Given the description of an element on the screen output the (x, y) to click on. 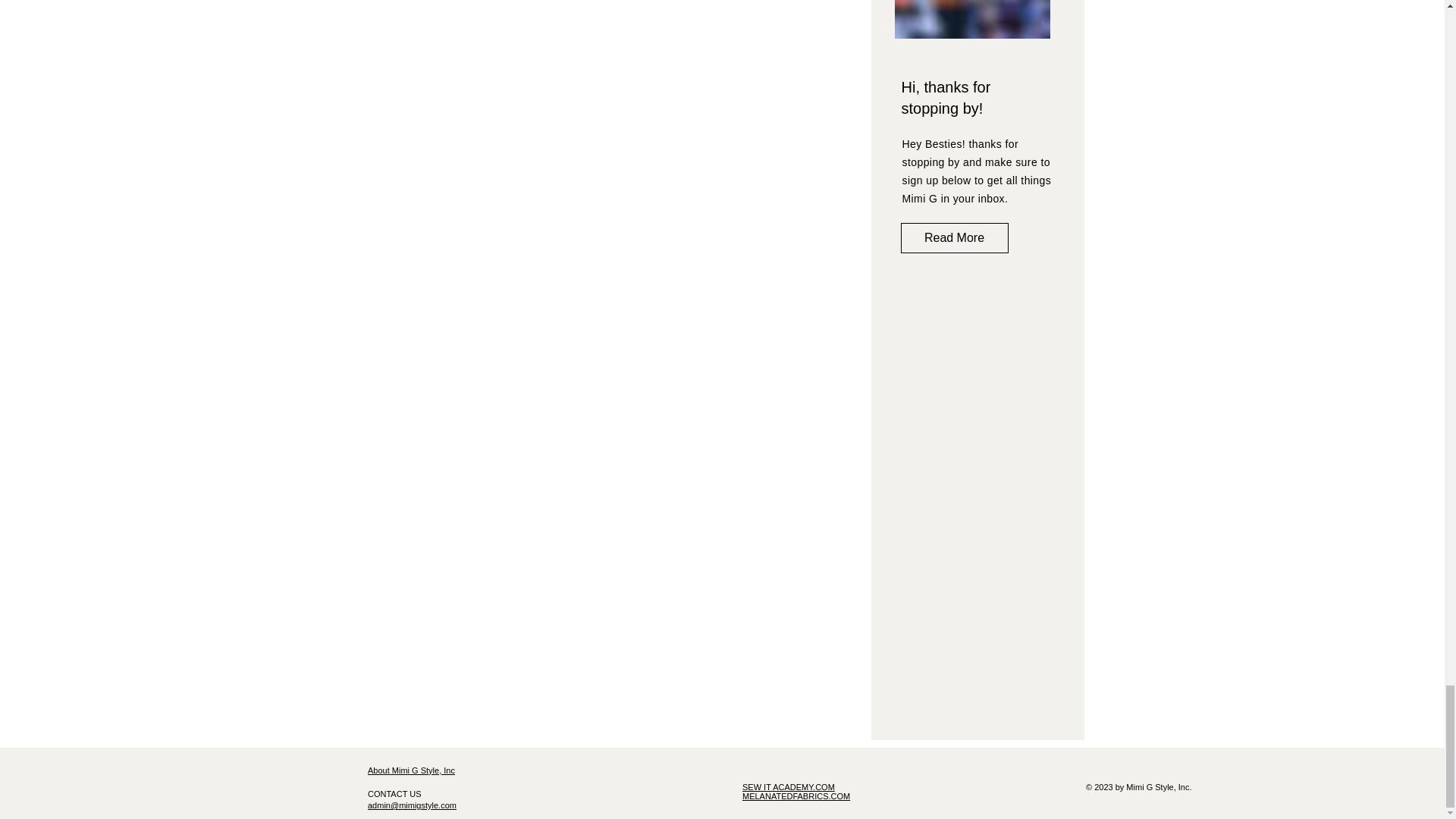
Read More (955, 237)
